Given the description of an element on the screen output the (x, y) to click on. 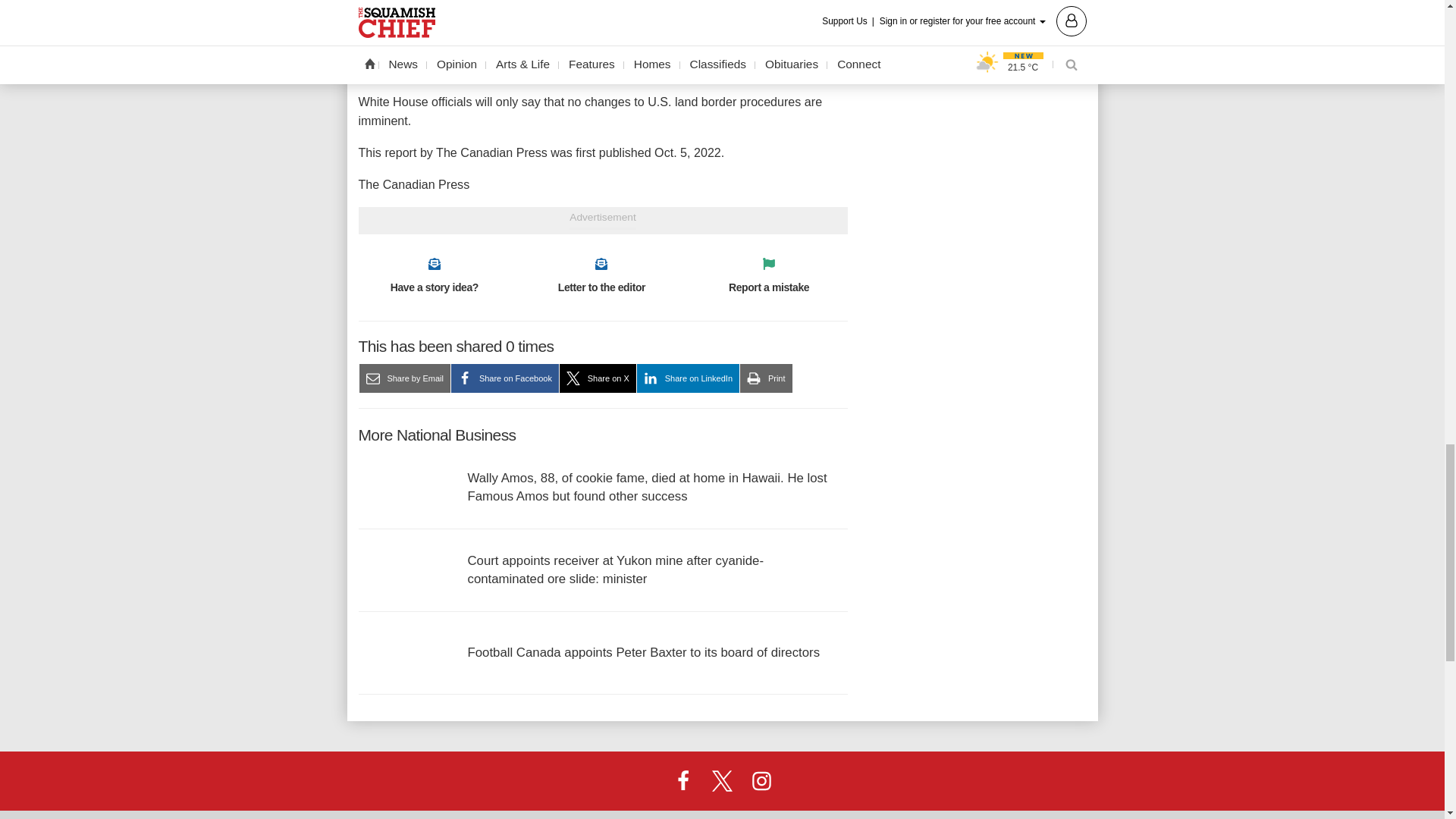
X (721, 779)
Instagram (760, 779)
Facebook (683, 779)
